Given the description of an element on the screen output the (x, y) to click on. 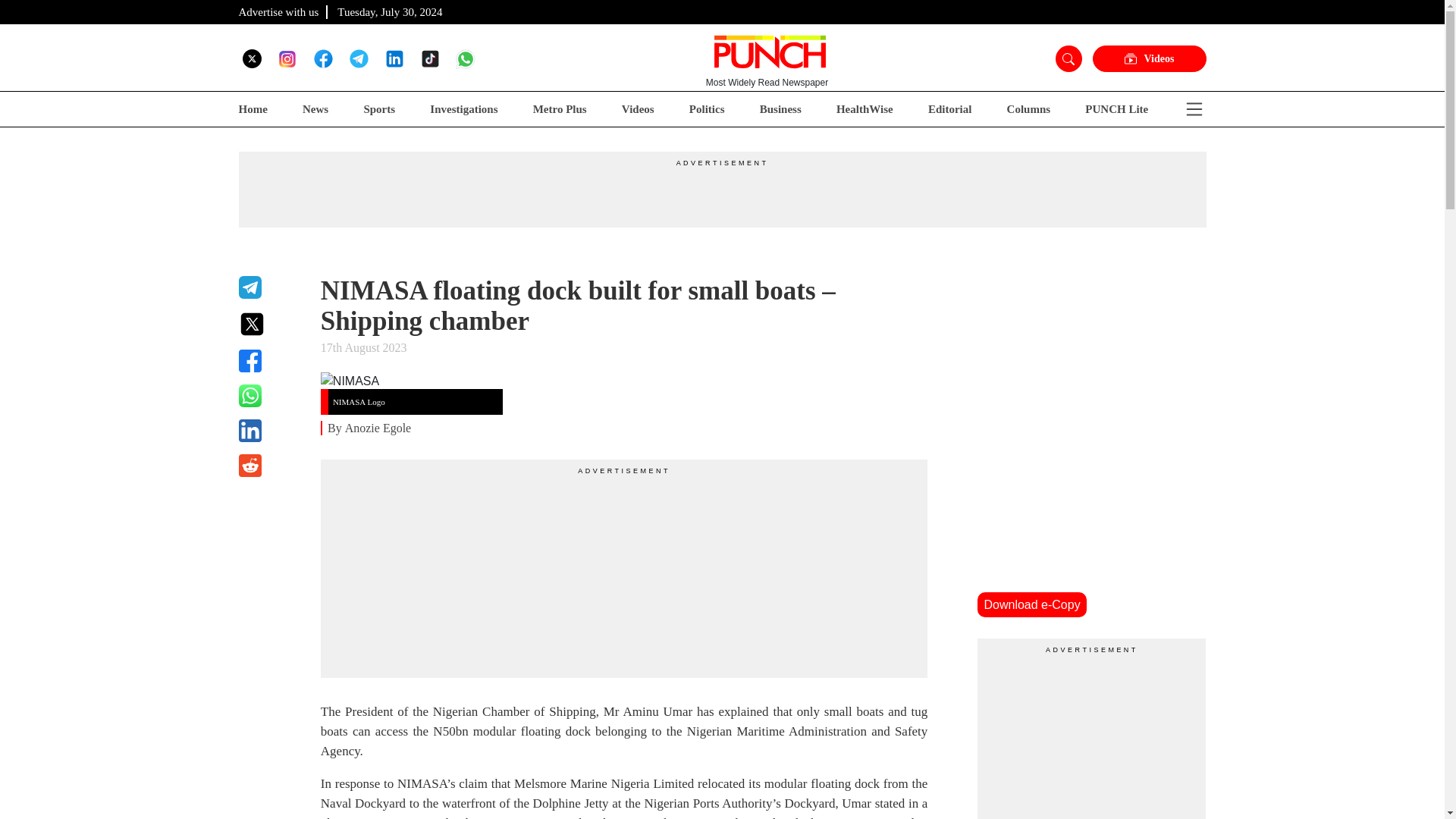
Follow Us on X (252, 58)
Follow us on Linkedin (395, 58)
Editorial (950, 109)
News (315, 109)
Follow us on Tiktok (430, 58)
Tuesday, July 30, 2024 (389, 11)
Politics (706, 109)
Videos (637, 109)
Share on Telegram (269, 287)
Follow Our Channel on Telegram (358, 58)
Follow Us on Facebook (323, 58)
Columns (1029, 109)
Share on Linkedin (269, 430)
Business (781, 109)
HealthWise (864, 109)
